Given the description of an element on the screen output the (x, y) to click on. 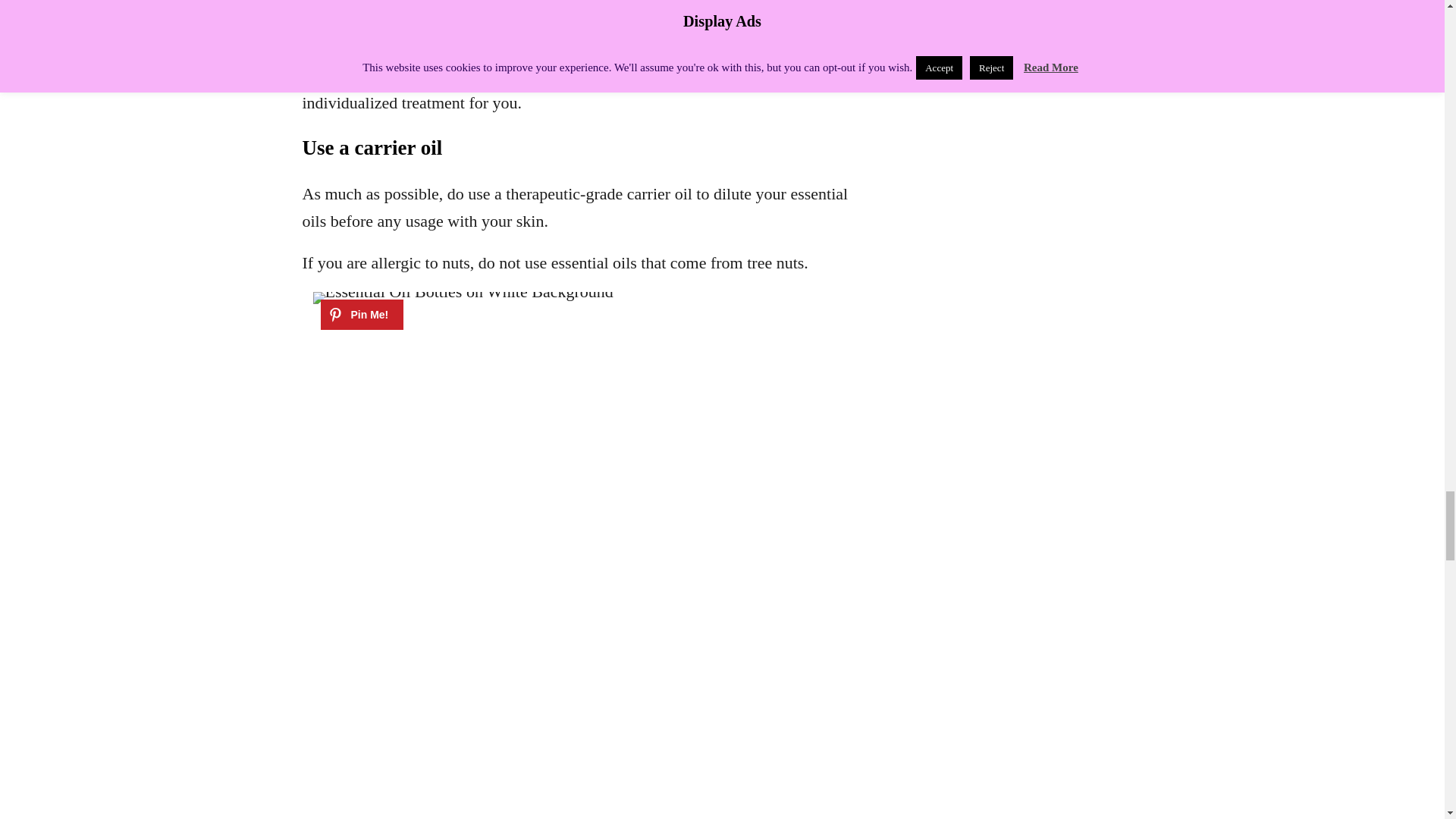
Pin Me! (361, 314)
